Given the description of an element on the screen output the (x, y) to click on. 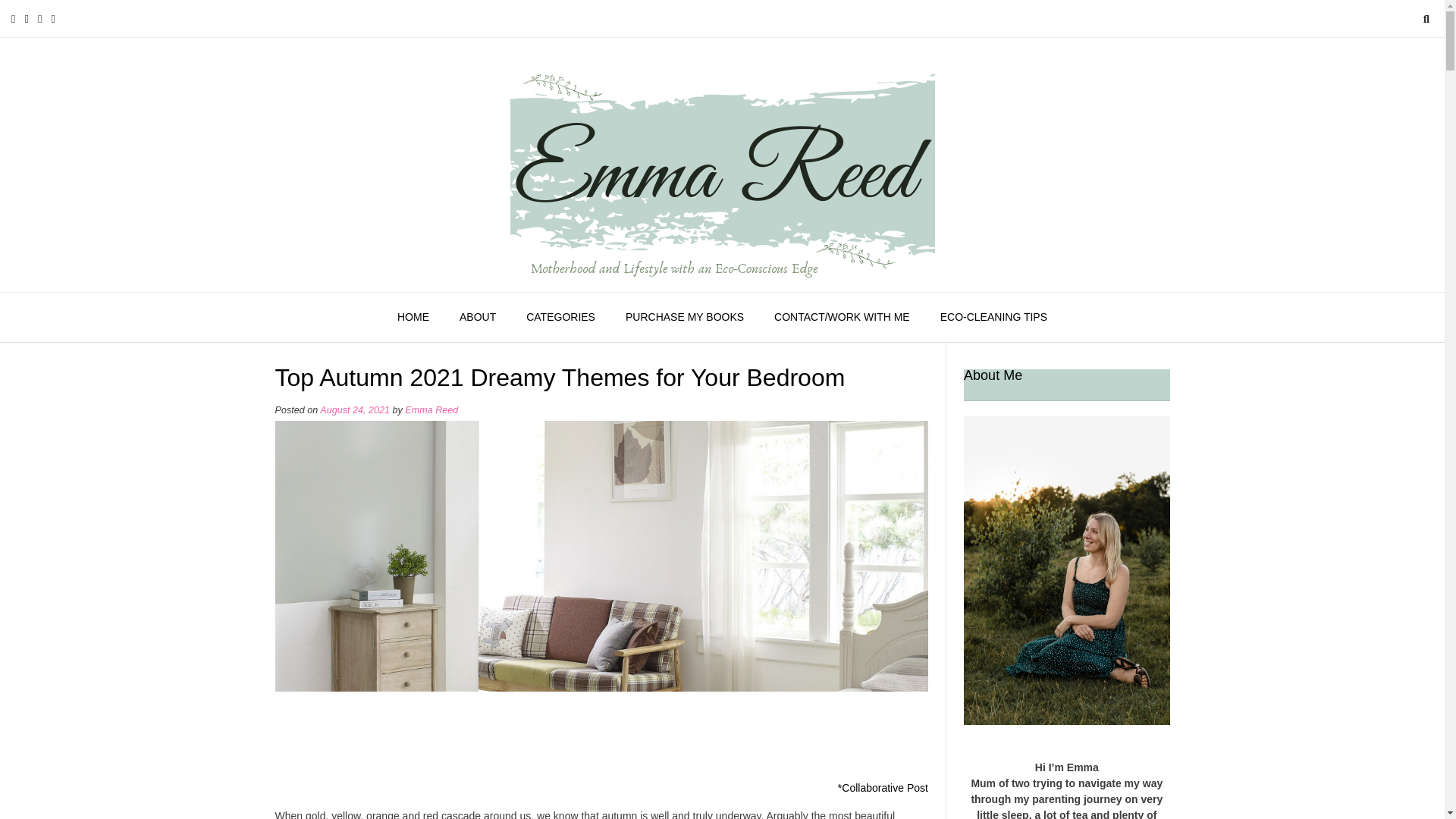
Emma Reed (431, 409)
PURCHASE MY BOOKS (684, 317)
HOME (412, 317)
ABOUT (477, 317)
ECO-CLEANING TIPS (993, 317)
August 24, 2021 (355, 409)
CATEGORIES (560, 317)
Emma Reed (721, 164)
